Given the description of an element on the screen output the (x, y) to click on. 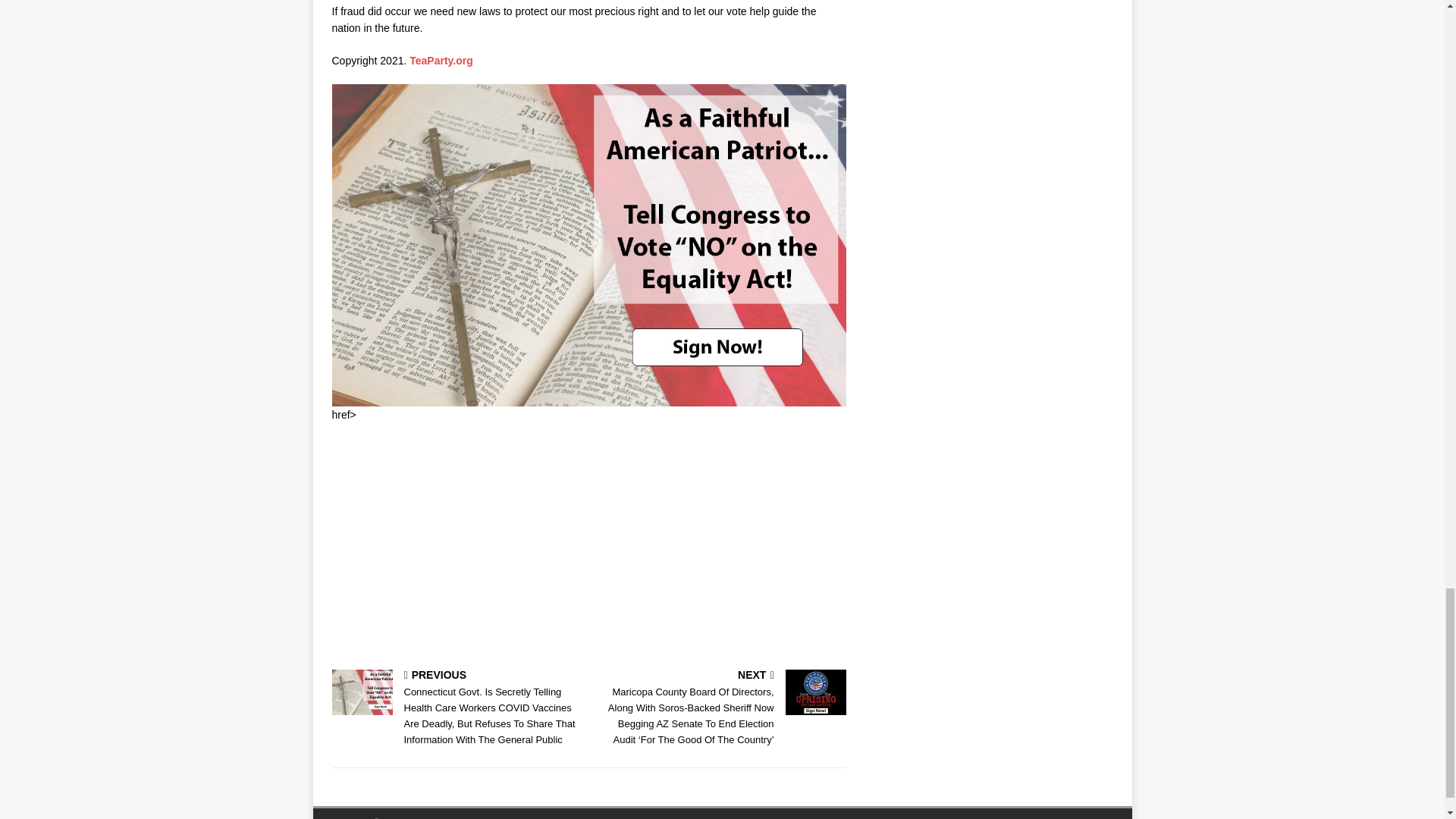
Advertisement (588, 544)
TeaParty.org (441, 60)
